Given the description of an element on the screen output the (x, y) to click on. 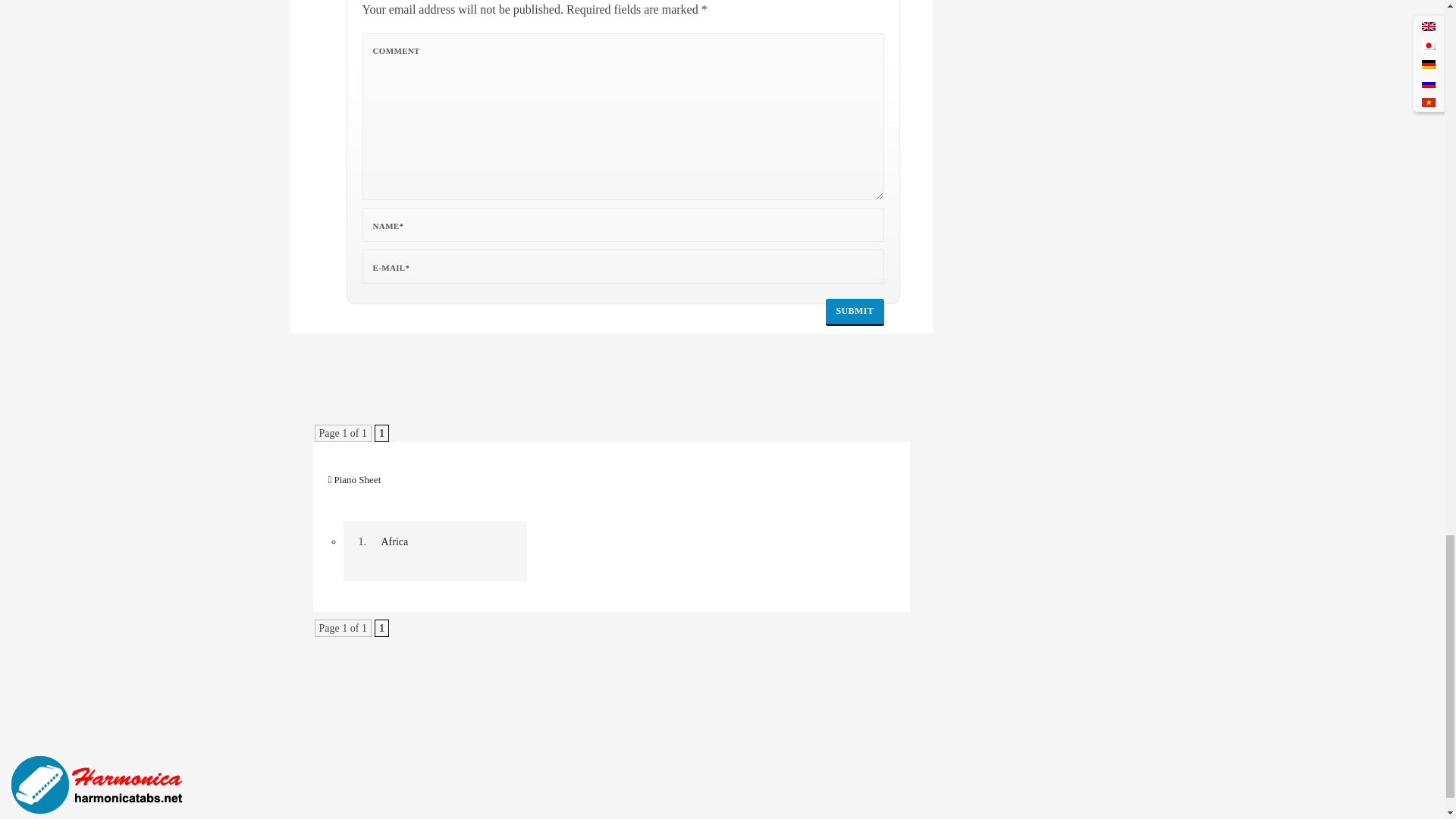
Africa (98, 785)
SUBMIT (855, 311)
